Given the description of an element on the screen output the (x, y) to click on. 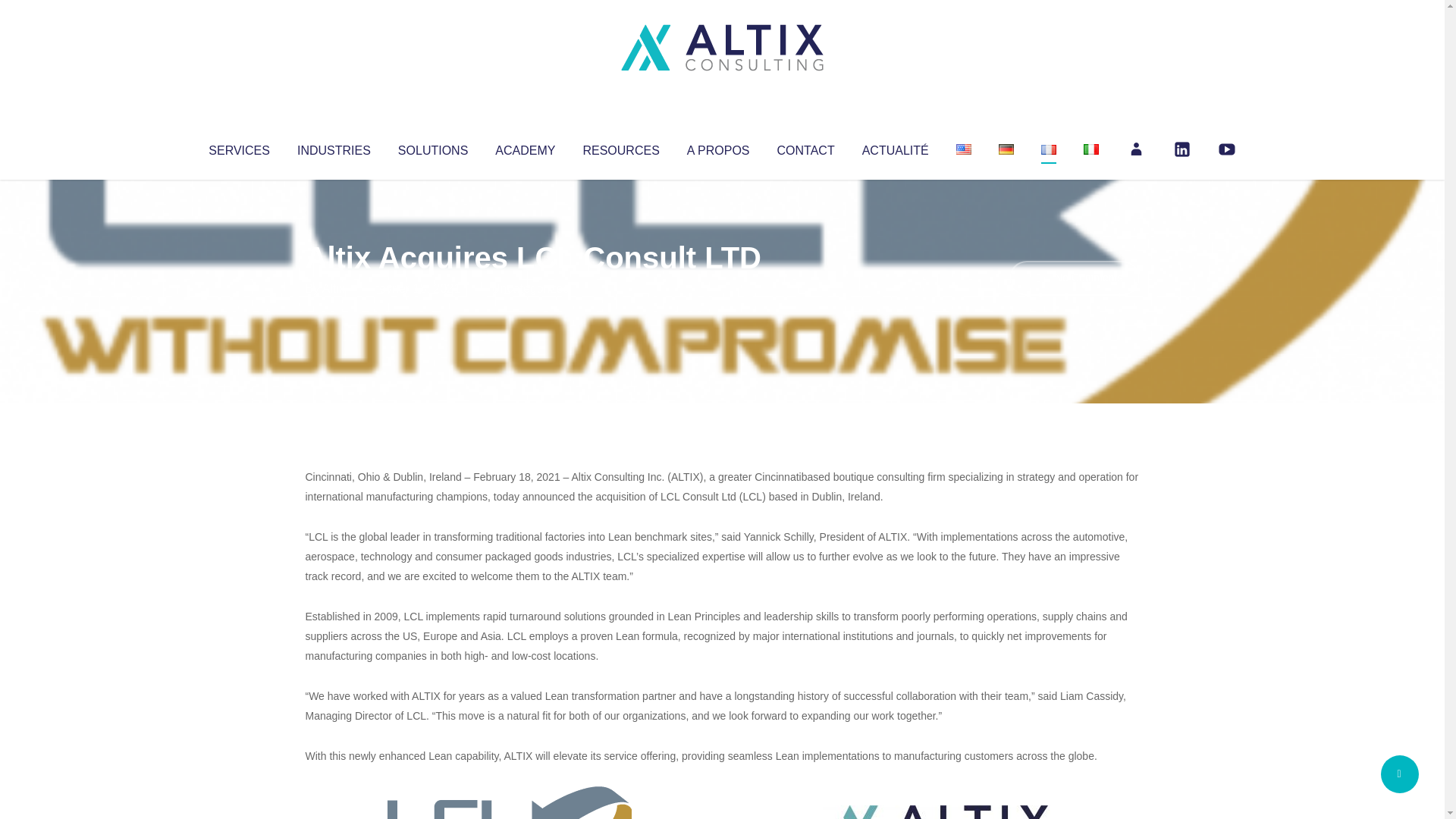
ACADEMY (524, 146)
RESOURCES (620, 146)
SOLUTIONS (432, 146)
Uncategorized (530, 287)
SERVICES (238, 146)
Articles par Altix (333, 287)
INDUSTRIES (334, 146)
No Comments (1073, 278)
A PROPOS (718, 146)
Altix (333, 287)
